Given the description of an element on the screen output the (x, y) to click on. 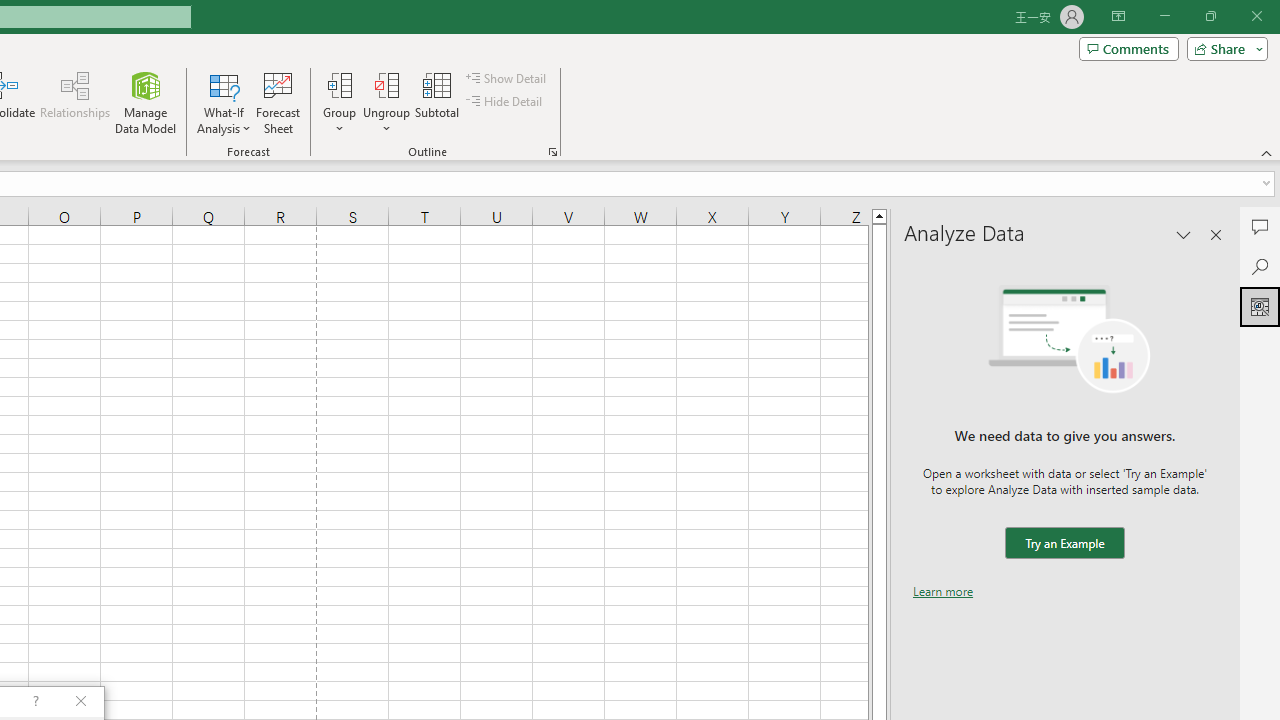
Manage Data Model (145, 102)
Close pane (1215, 234)
Learn more (943, 591)
Group and Outline Settings (552, 151)
Show Detail (507, 78)
Relationships (75, 102)
Subtotal (437, 102)
